Given the description of an element on the screen output the (x, y) to click on. 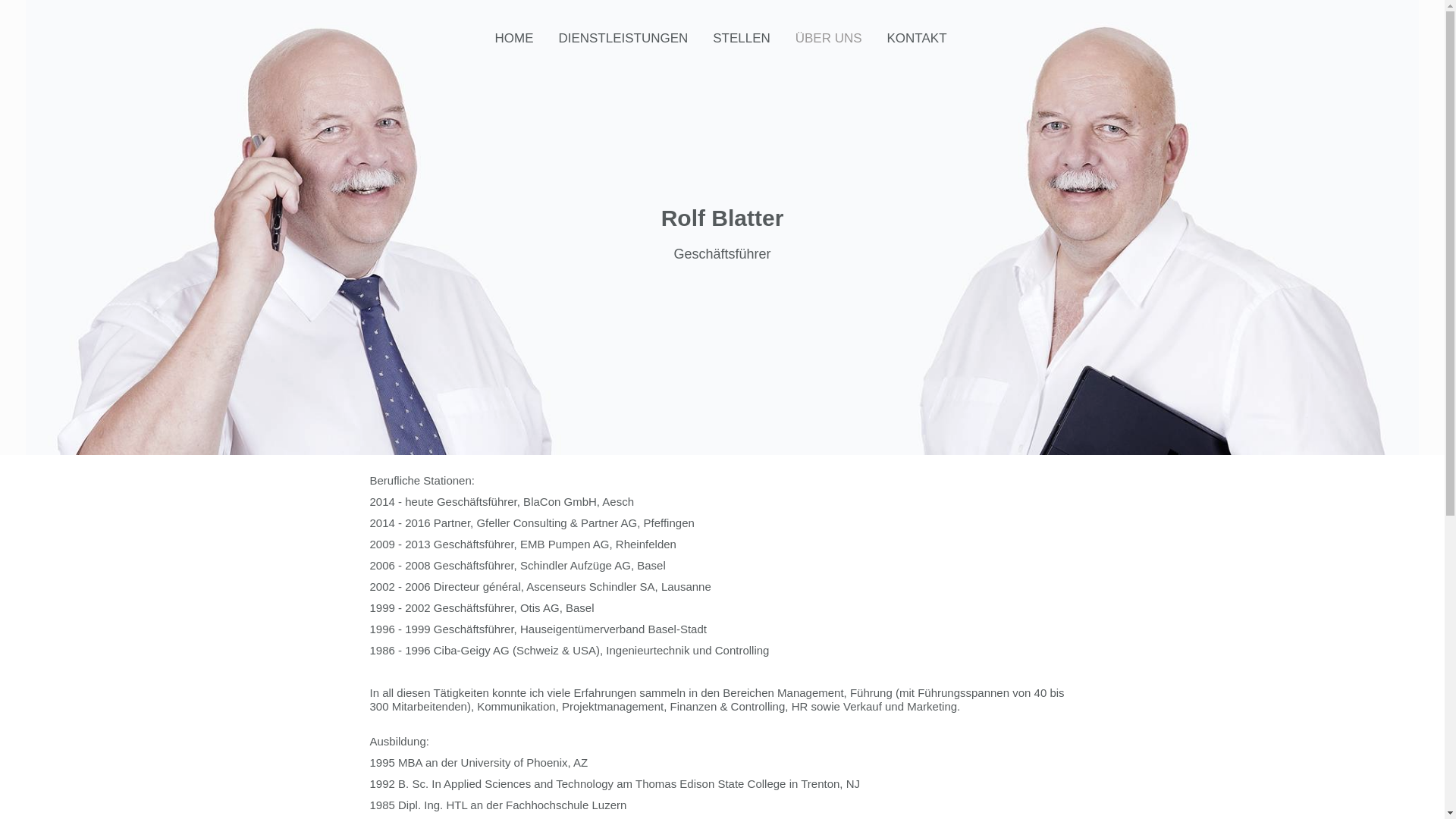
DIENSTLEISTUNGEN Element type: text (622, 39)
HOME Element type: text (513, 39)
STELLEN Element type: text (741, 39)
KONTAKT Element type: text (916, 39)
